Given the description of an element on the screen output the (x, y) to click on. 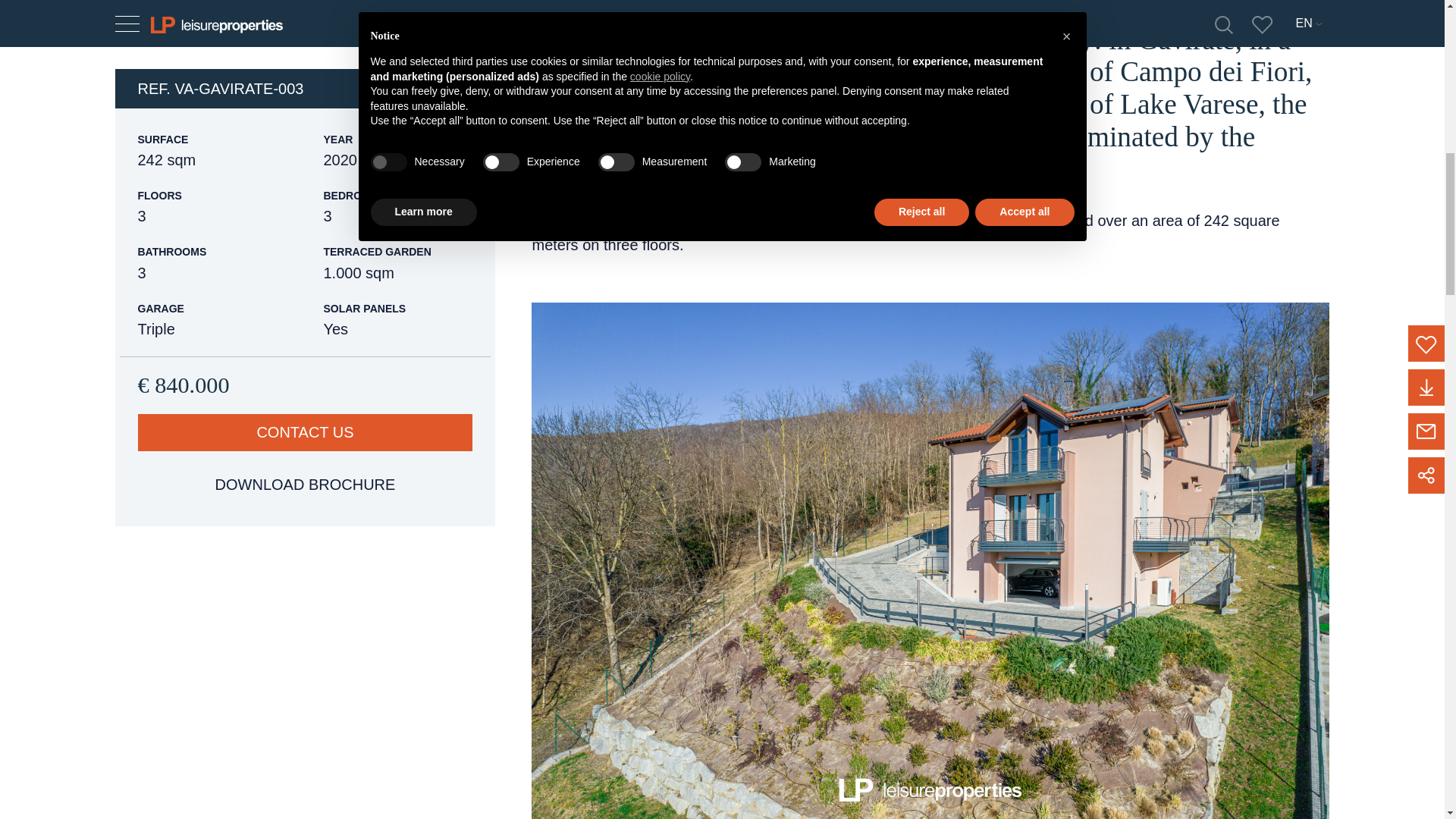
DOWNLOAD BROCHURE (305, 439)
CONTACT US (305, 387)
